Given the description of an element on the screen output the (x, y) to click on. 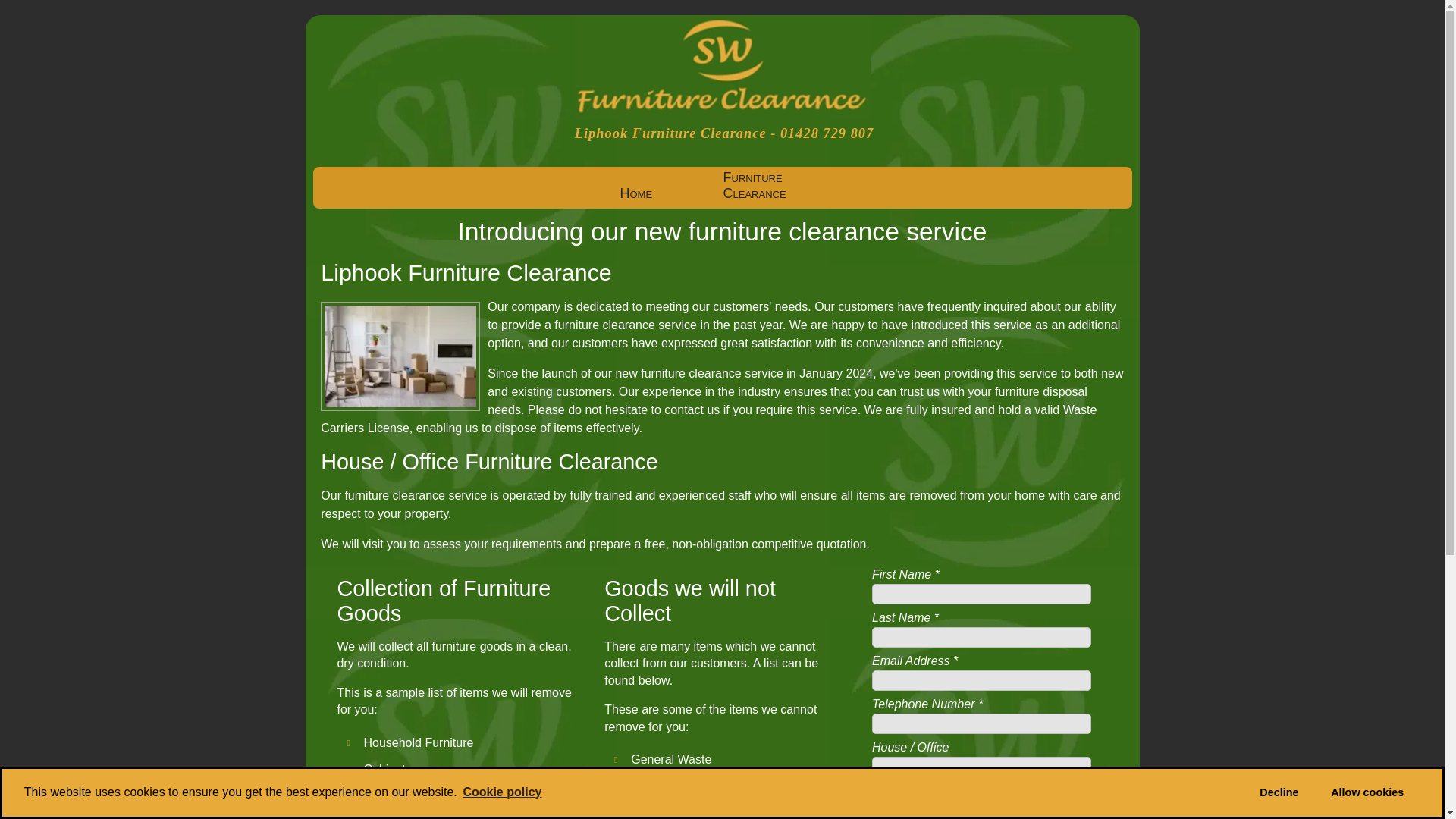
Decline (1278, 793)
Home (668, 193)
Furniture Clearance (772, 185)
Allow cookies (1367, 793)
